Given the description of an element on the screen output the (x, y) to click on. 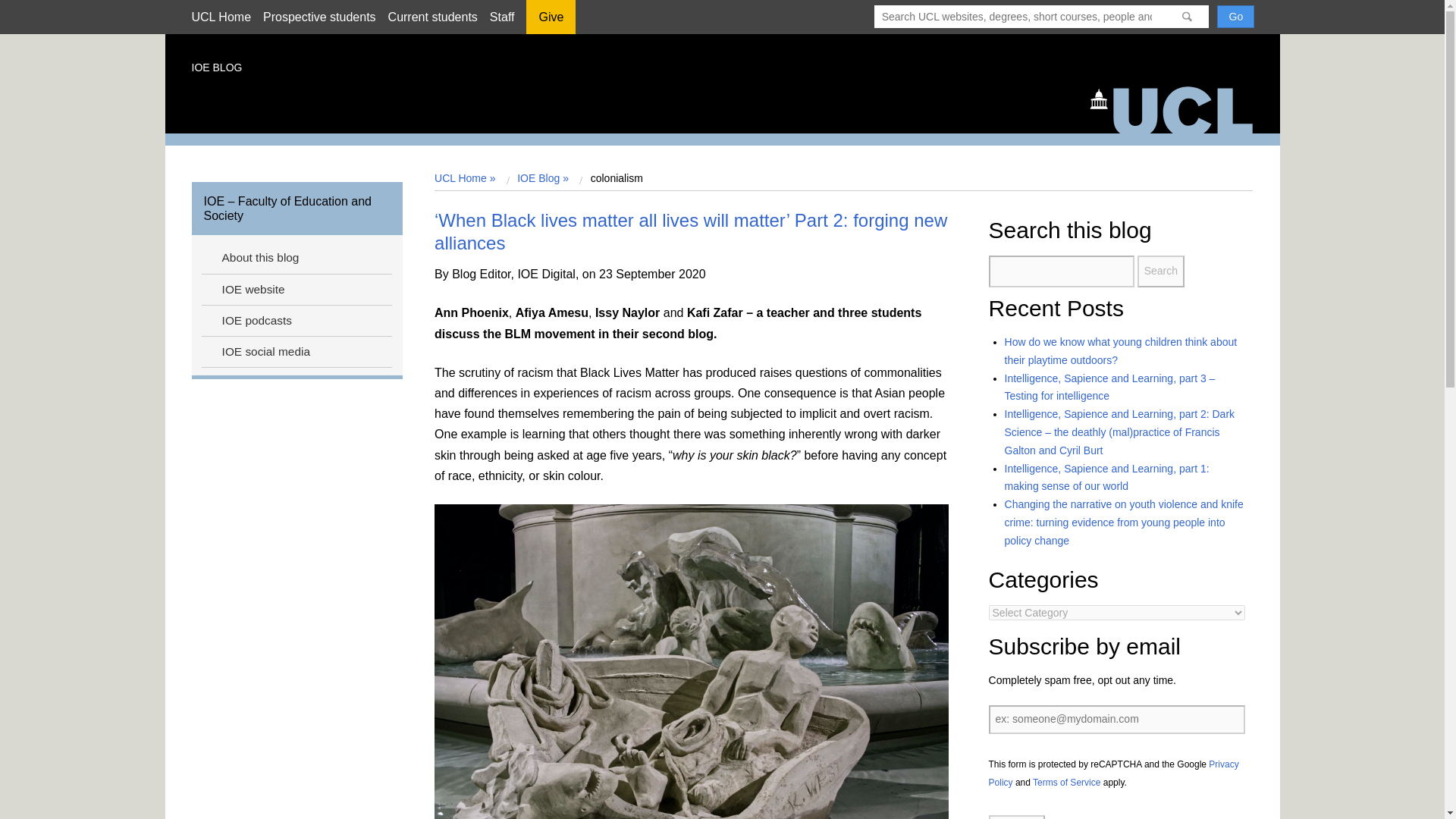
Search (1161, 271)
Subscribe (1016, 816)
Current students (432, 16)
Staff (502, 16)
IOE social media (296, 351)
Subscribe (1016, 816)
Prospective students (319, 16)
Search (1161, 271)
UCL Home (220, 16)
